Given the description of an element on the screen output the (x, y) to click on. 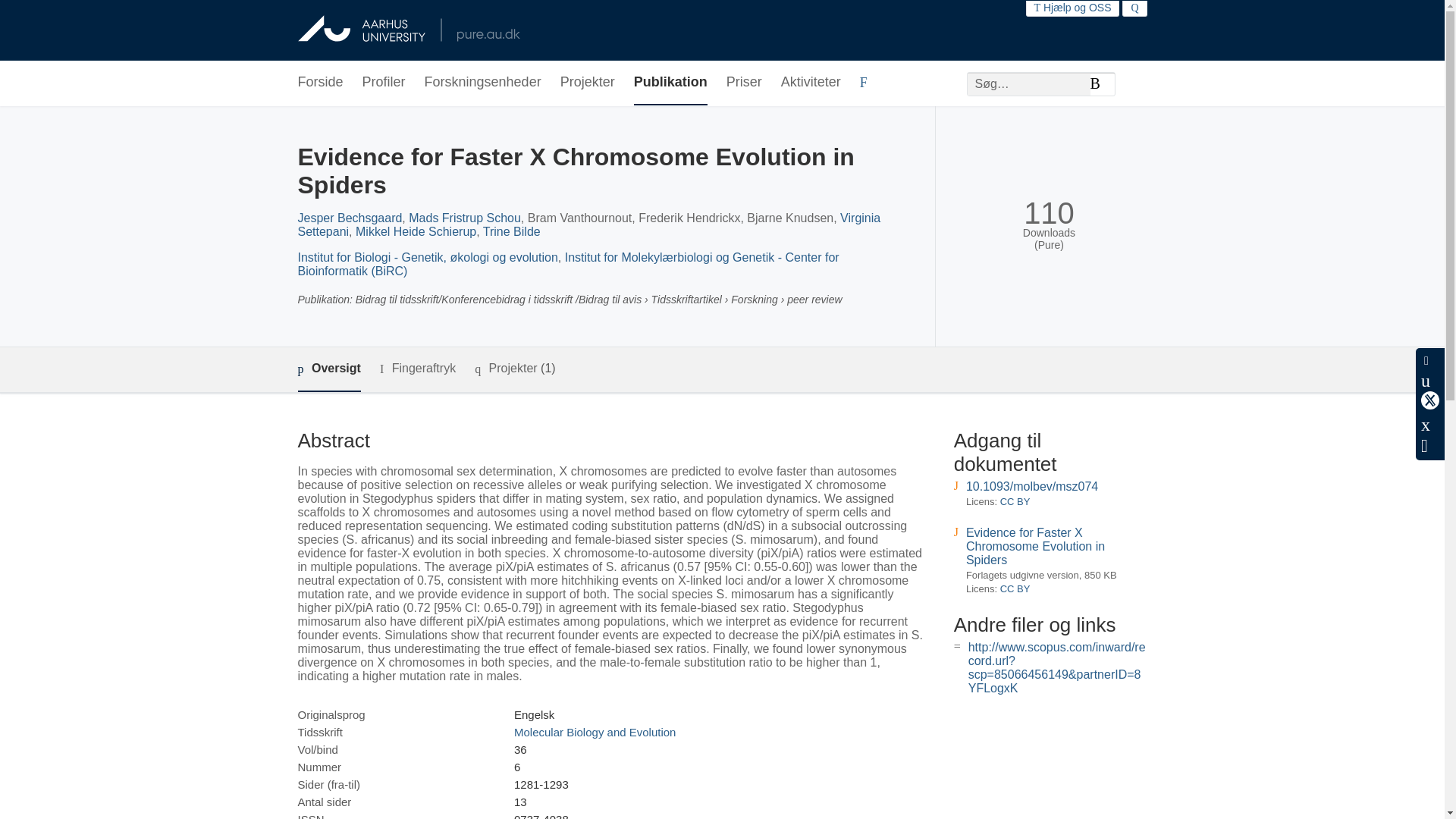
Aktiviteter (810, 82)
CC BY (1015, 588)
Fingeraftryk (417, 368)
Forside (319, 82)
Mads Fristrup Schou (465, 217)
Molecular Biology and Evolution (594, 731)
Publikation (670, 82)
CC BY (1015, 501)
Projekter (587, 82)
Aarhus Universitet Forside (408, 30)
